Given the description of an element on the screen output the (x, y) to click on. 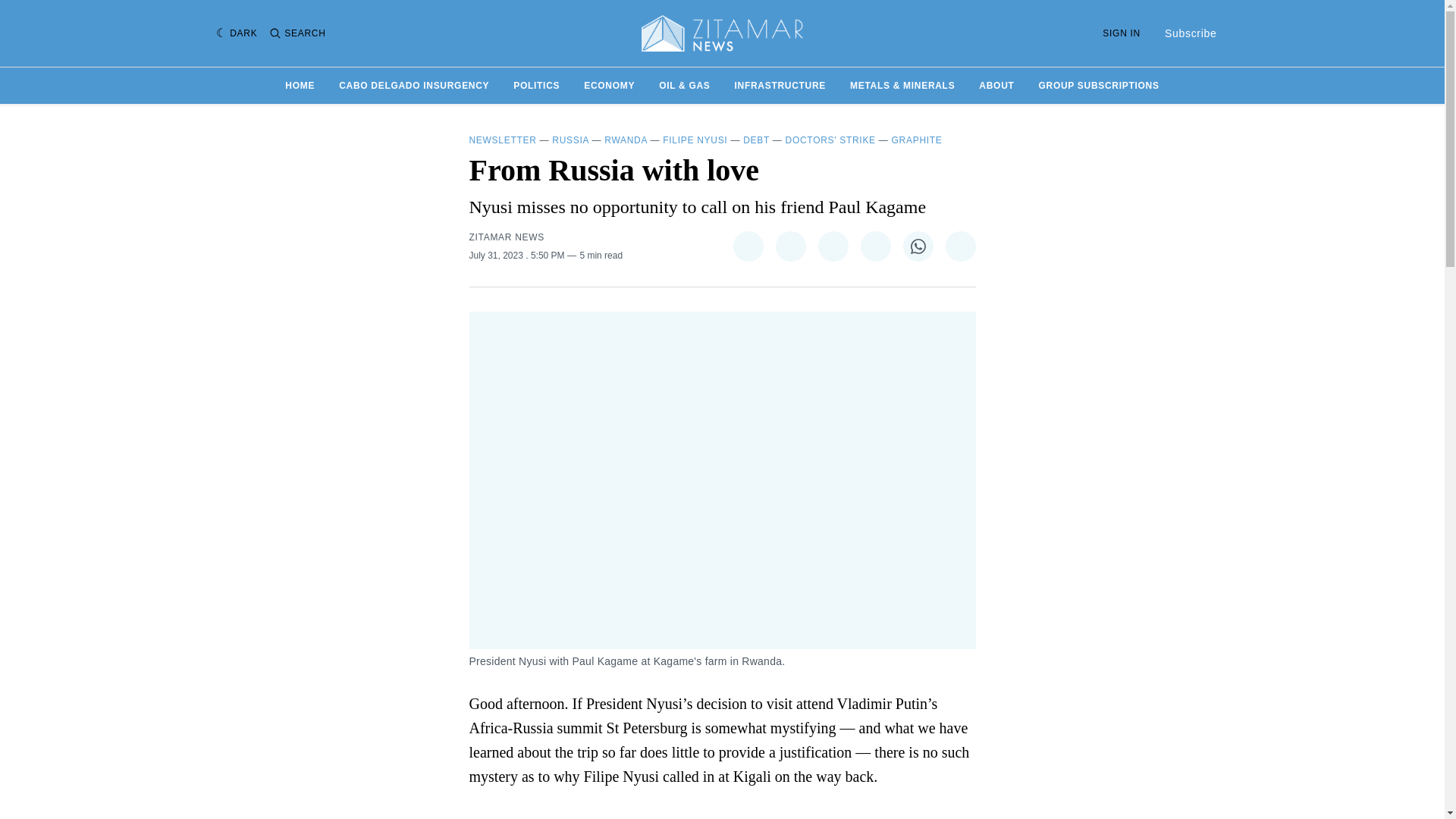
Dark (236, 32)
Subscribe (1190, 33)
DOCTORS' STRIKE (831, 140)
SIGN IN (1121, 33)
Share on Pinterest (831, 245)
INFRASTRUCTURE (780, 85)
FILIPE NYUSI (694, 140)
GROUP SUBSCRIPTIONS (1098, 85)
RWANDA (625, 140)
DEBT (756, 140)
